Given the description of an element on the screen output the (x, y) to click on. 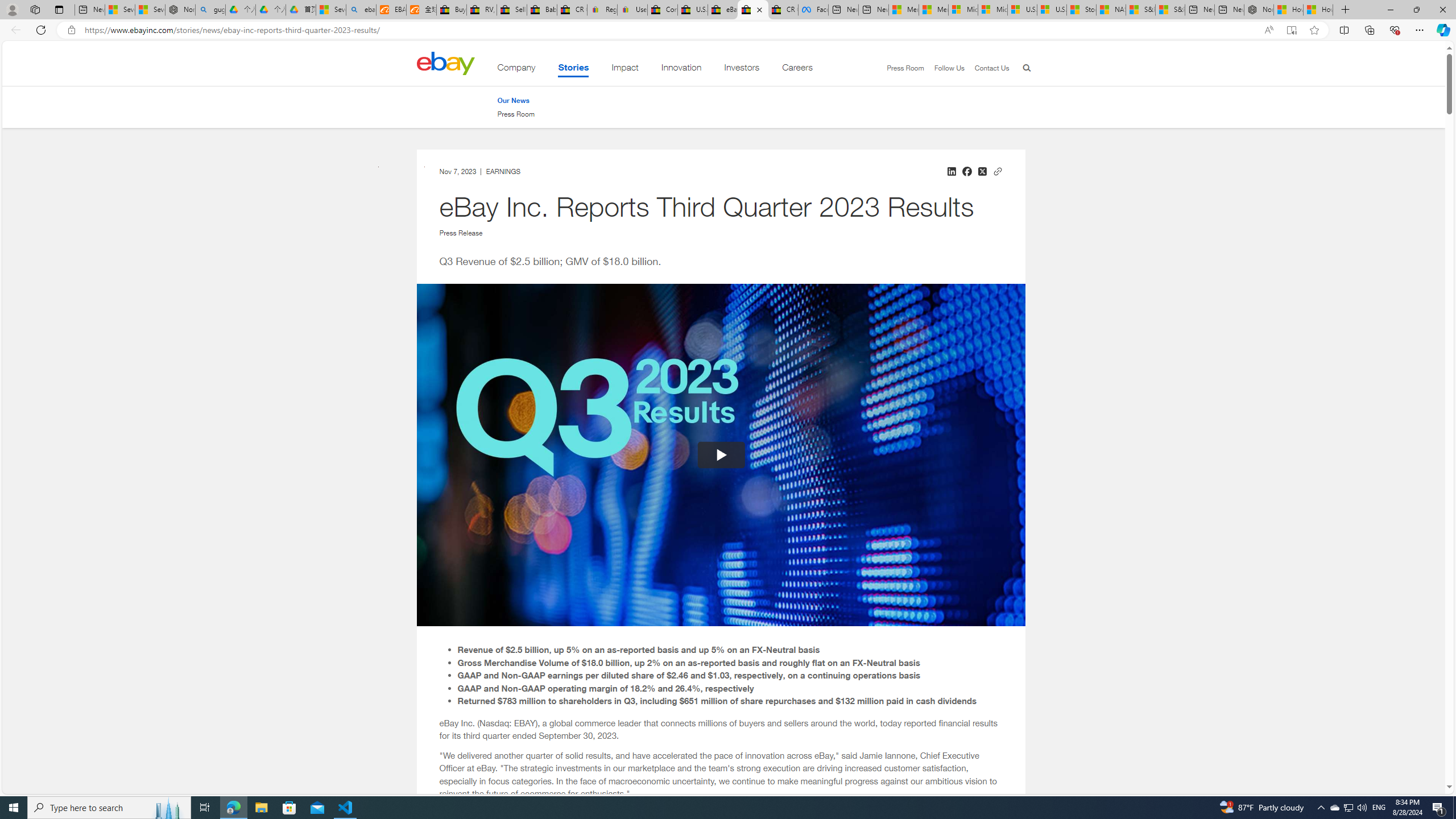
RV, Trailer & Camper Steps & Ladders for sale | eBay (481, 9)
Consumer Health Data Privacy Policy - eBay Inc. (662, 9)
U.S. State Privacy Disclosures - eBay Inc. (691, 9)
Impact (625, 69)
Innovation (681, 69)
App bar (728, 29)
How to Use a Monitor With Your Closed Laptop (1318, 9)
Close tab (759, 9)
Workspaces (34, 9)
New Tab (1346, 9)
guge yunpan - Search (210, 9)
Press Room (515, 113)
Personal Profile (12, 9)
